Given the description of an element on the screen output the (x, y) to click on. 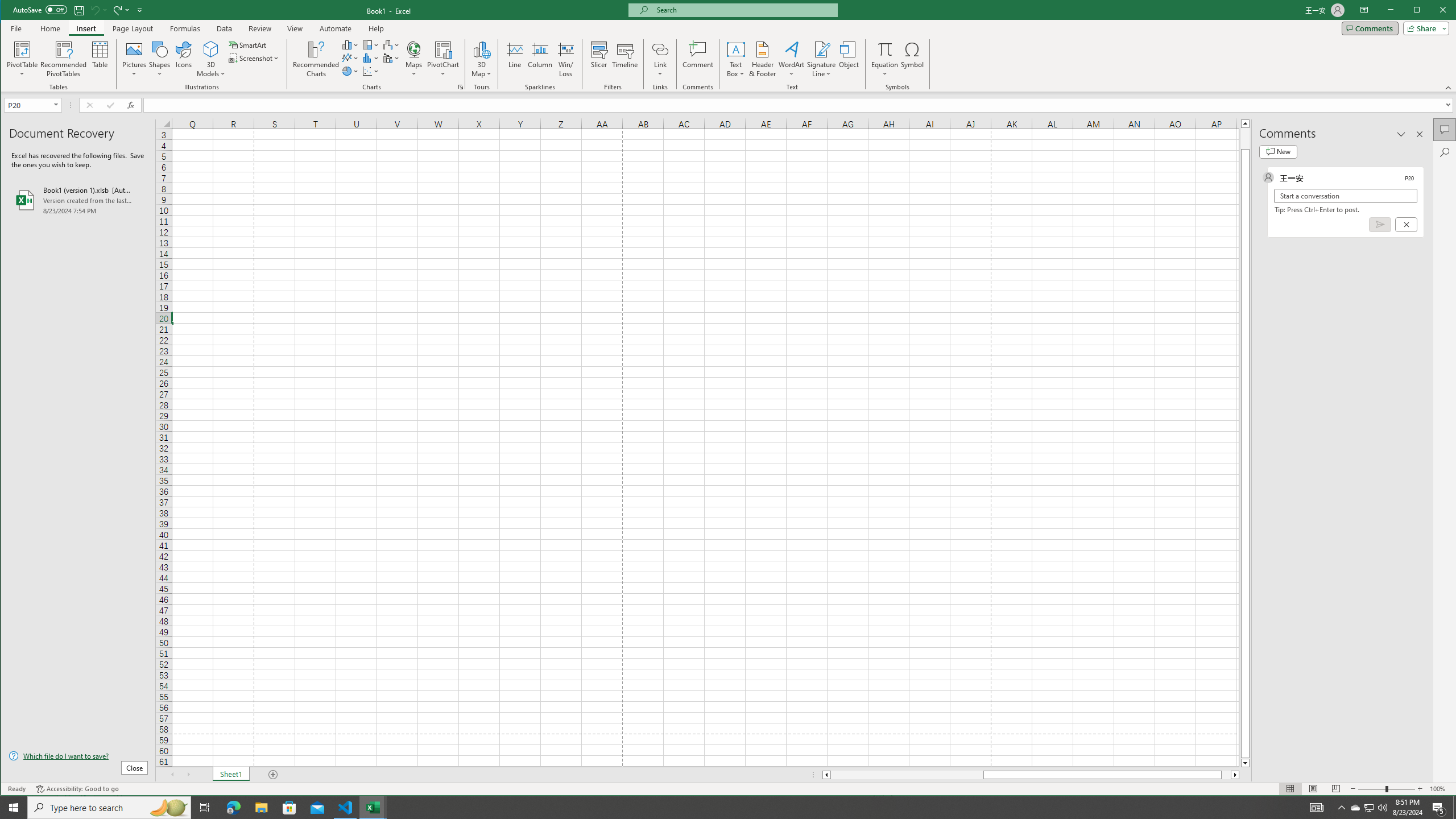
Insert Waterfall, Funnel, Stock, Surface, or Radar Chart (391, 44)
Maps (413, 59)
3D Models (211, 48)
Object... (848, 59)
Draw Horizontal Text Box (735, 48)
Column (540, 59)
PivotTable (22, 59)
Icons (183, 59)
